Given the description of an element on the screen output the (x, y) to click on. 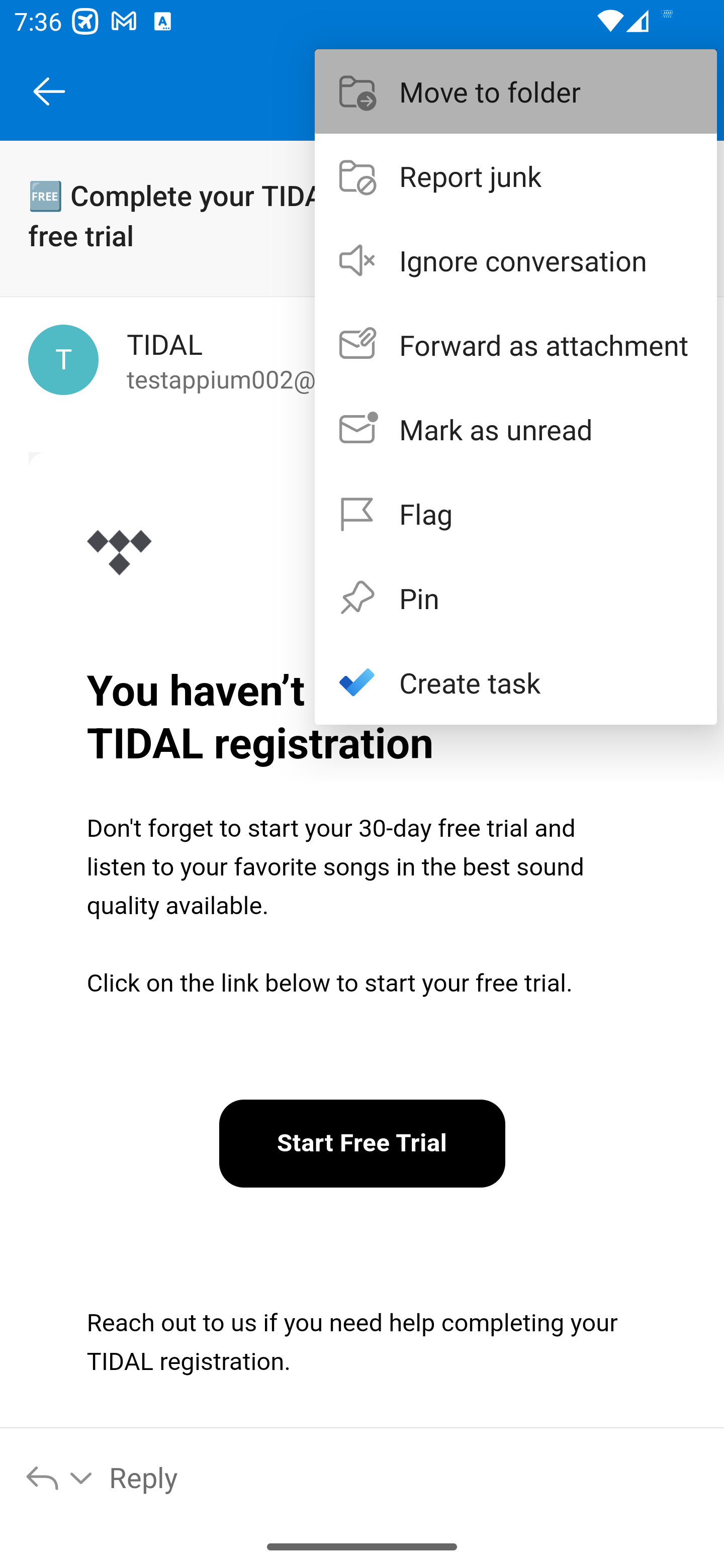
Move to folder (515, 90)
Report junk (515, 175)
Ignore conversation (515, 259)
Forward as attachment (515, 344)
Mark as unread (515, 429)
Flag (515, 513)
Pin (515, 597)
Create task (515, 681)
